Given the description of an element on the screen output the (x, y) to click on. 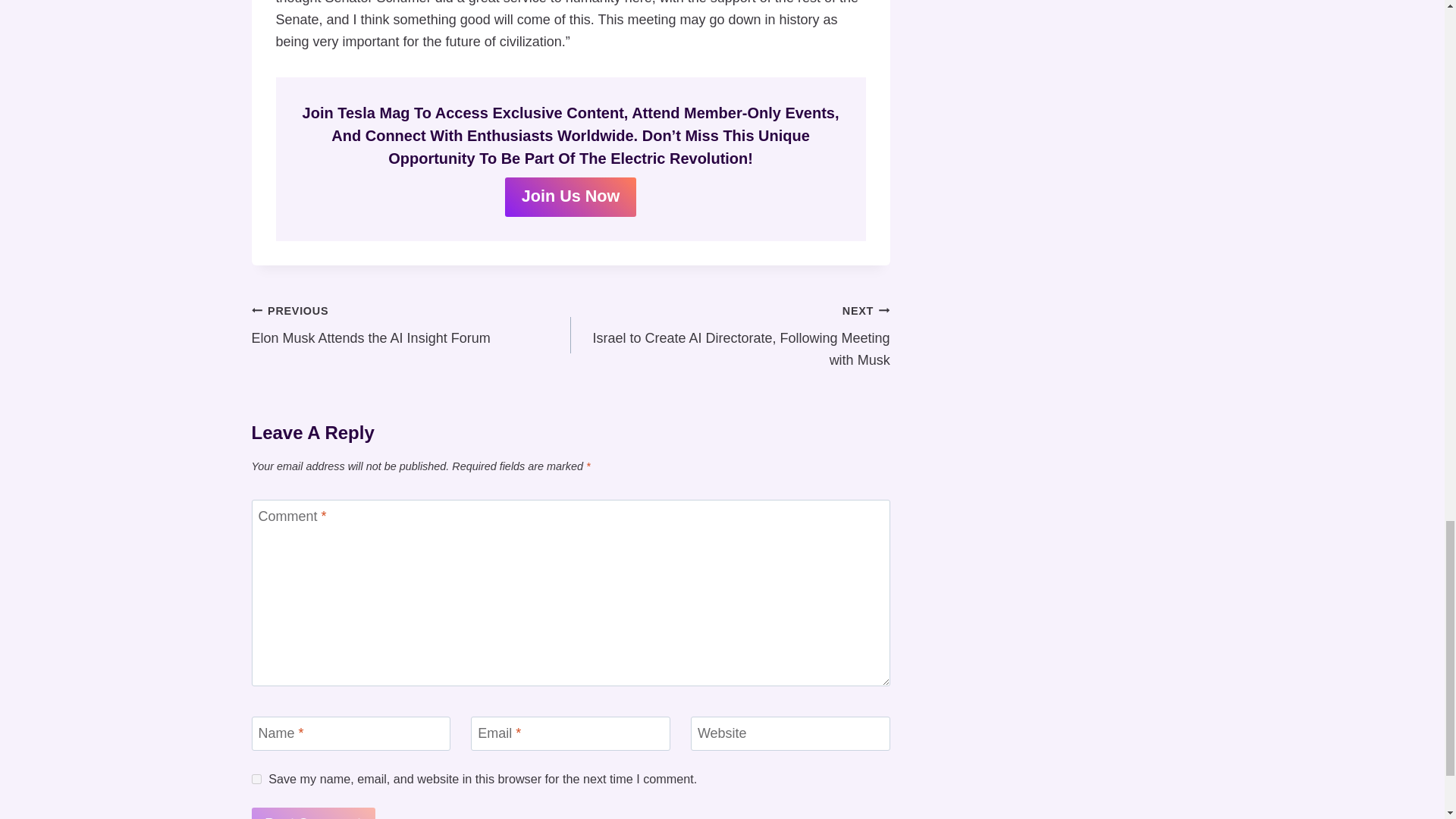
Post Comment (410, 324)
yes (313, 813)
Post Comment (256, 778)
Join Us Now (313, 813)
